Given the description of an element on the screen output the (x, y) to click on. 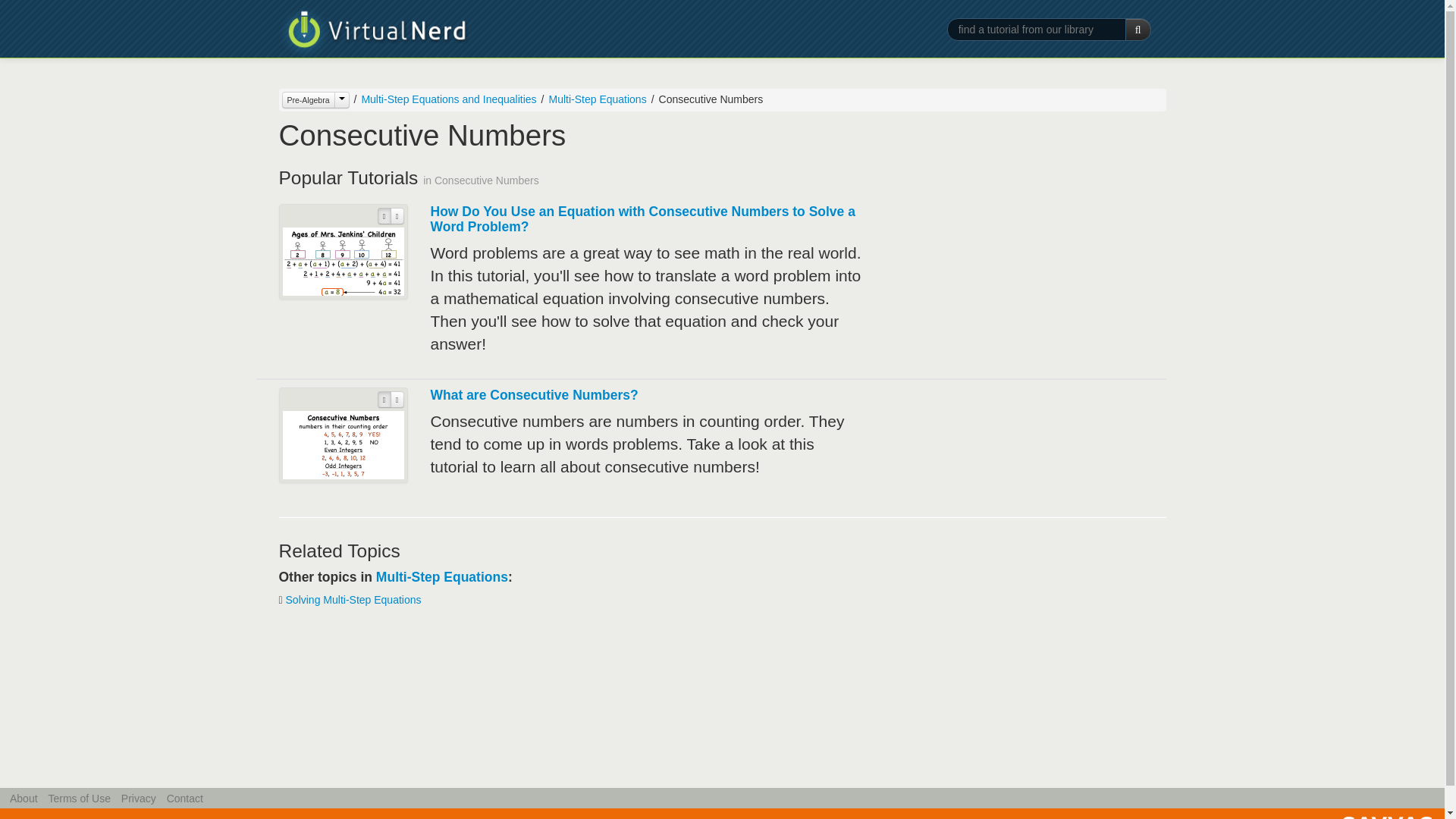
Virtual Nerd (373, 32)
Multi-Step Equations and Inequalities (448, 99)
Multi-Step Equations and Inequalities (443, 99)
Solving Multi-Step Equations (353, 599)
Multi-Step Equations (597, 99)
Contact (185, 798)
Pre-Algebra (315, 99)
Multi-Step Equations (591, 99)
What are Consecutive Numbers? (534, 394)
Terms of Use (79, 798)
About (23, 798)
Pre-Algebra (308, 99)
Privacy (137, 798)
Multi-Step Equations (441, 576)
